Given the description of an element on the screen output the (x, y) to click on. 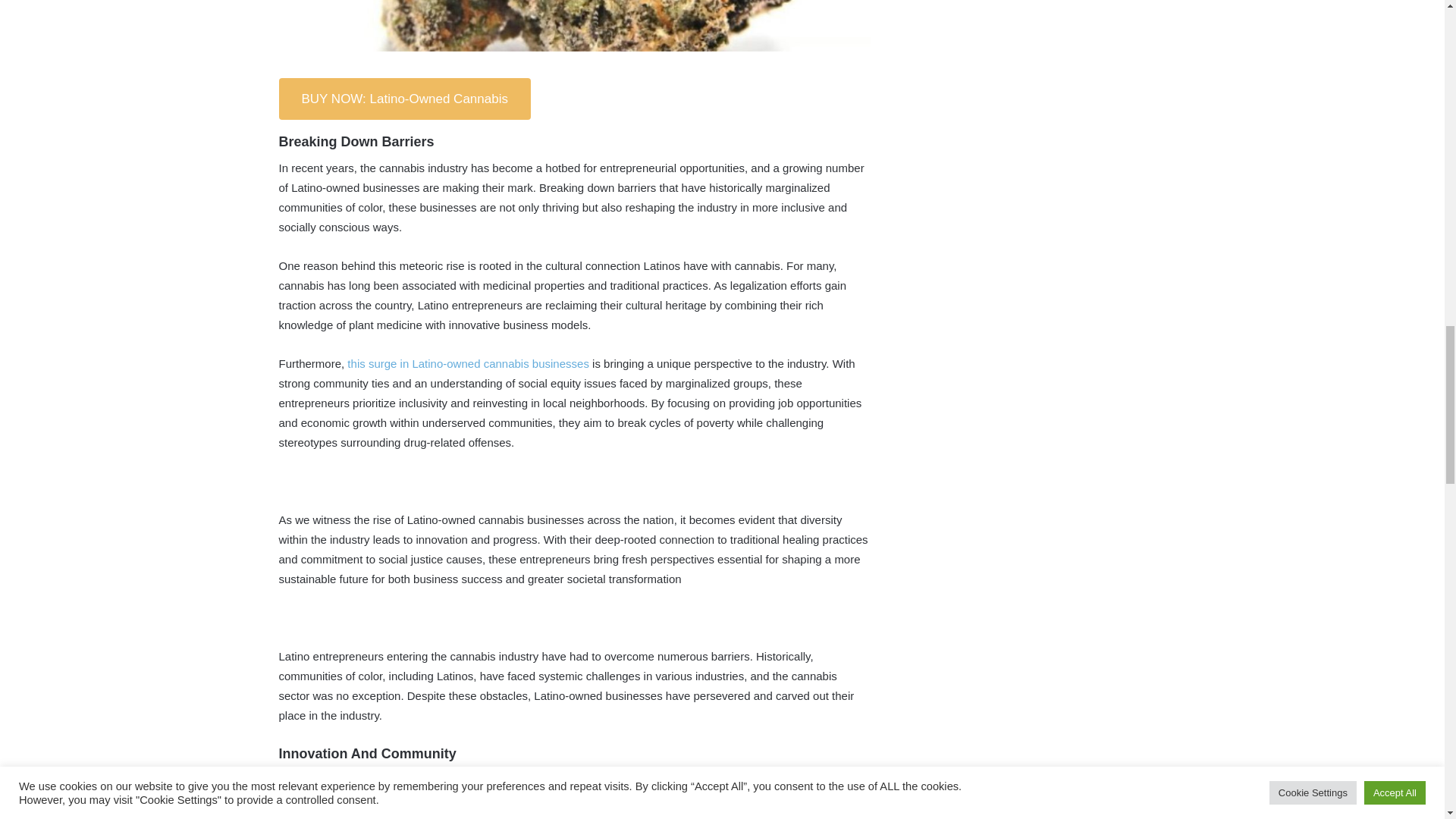
BUY NOW: Latino-Owned Cannabis (405, 98)
this surge in Latino-owned cannabis businesses (466, 363)
